Given the description of an element on the screen output the (x, y) to click on. 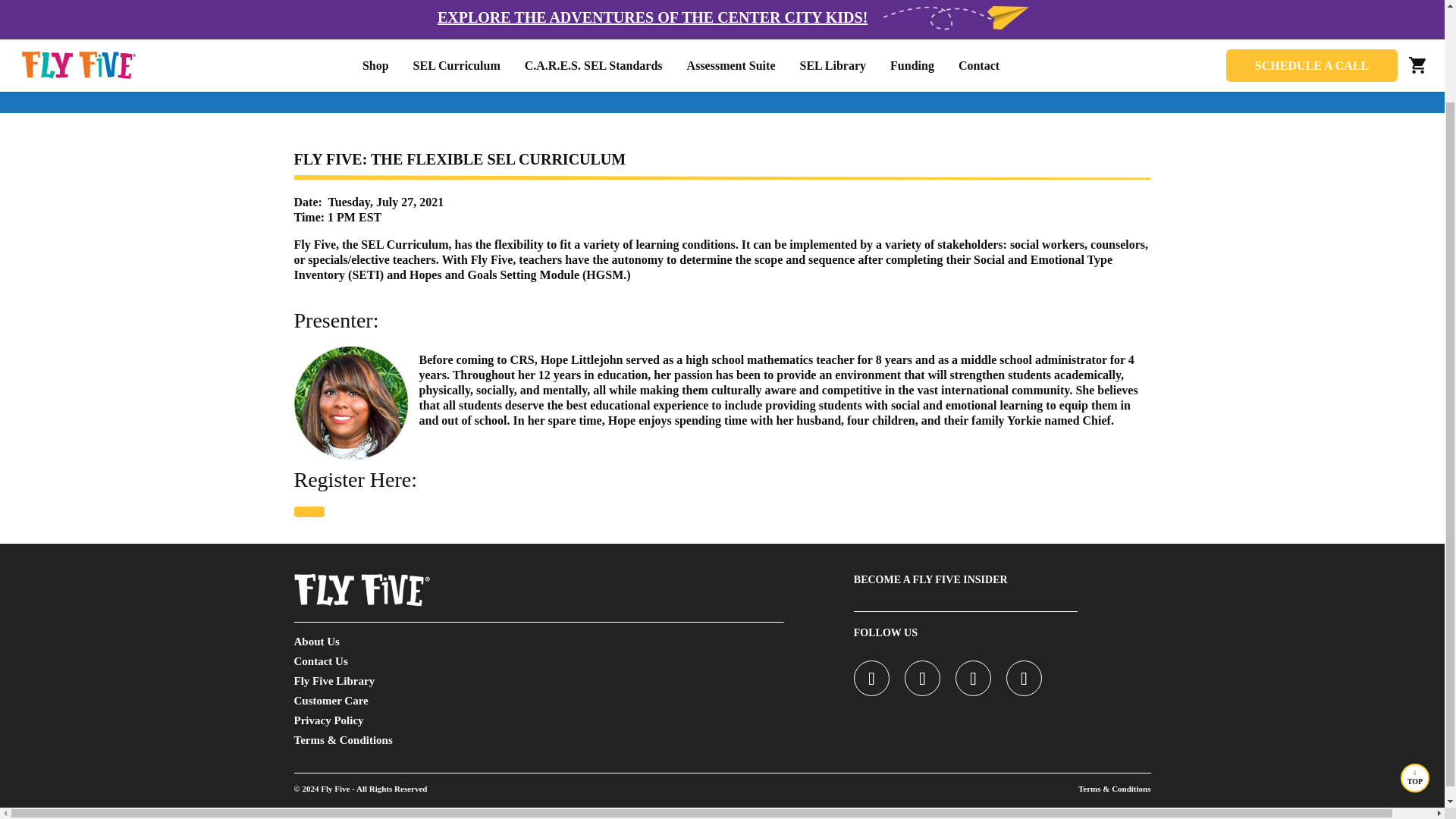
Shop (375, 13)
Click to return on the top page (1414, 670)
SEL Curriculum (457, 13)
